Given the description of an element on the screen output the (x, y) to click on. 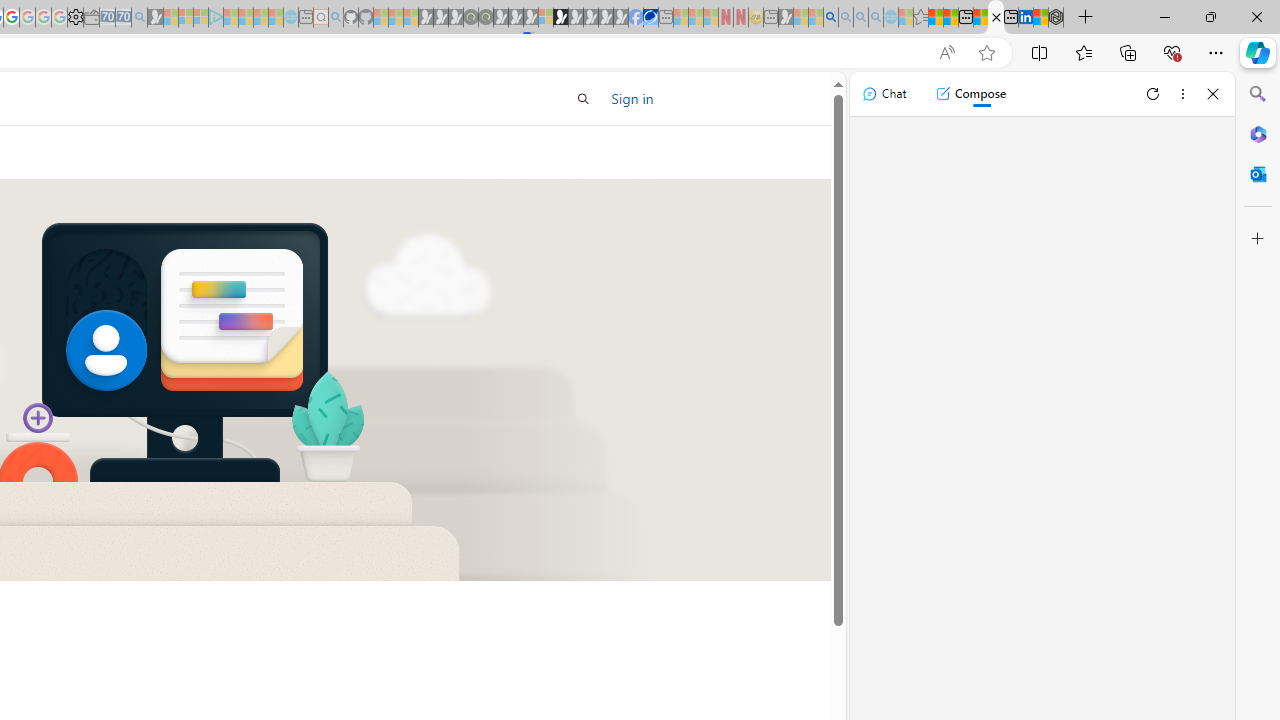
Wallet - Sleeping (91, 17)
Nordace | Facebook - Sleeping (635, 17)
